Given the description of an element on the screen output the (x, y) to click on. 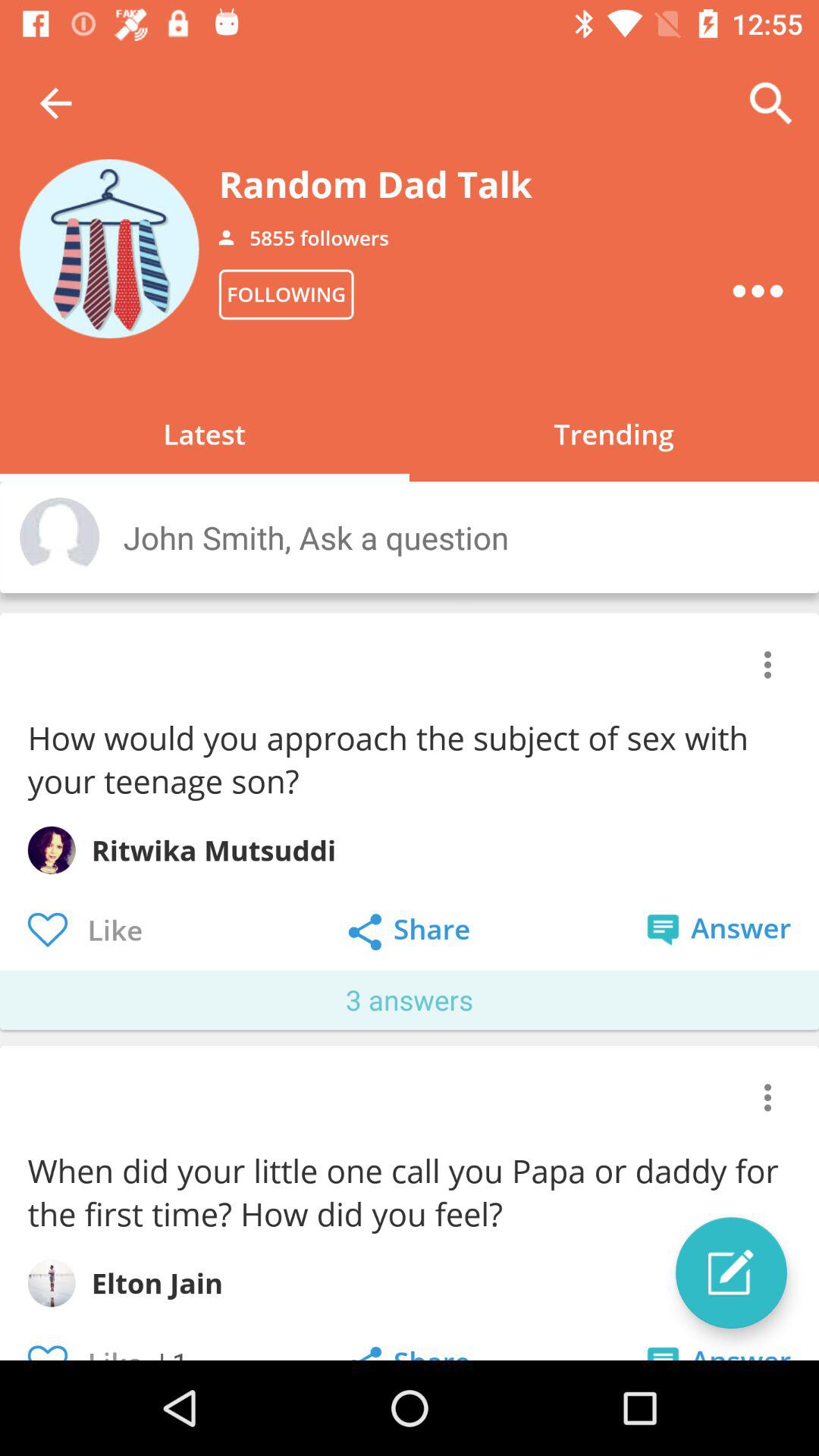
turn off the item next to the like (173, 1351)
